Given the description of an element on the screen output the (x, y) to click on. 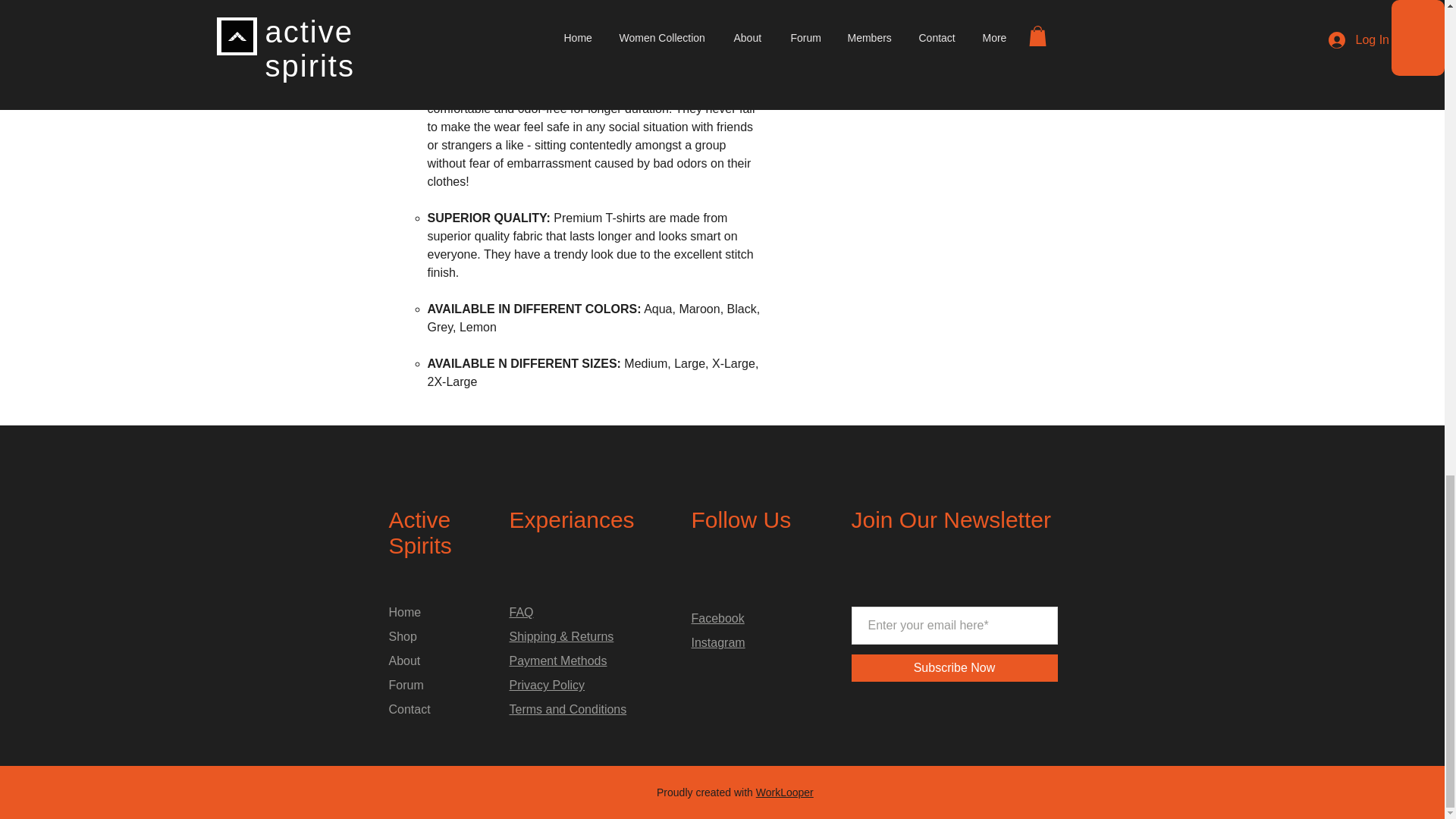
Shop (402, 635)
Forum (405, 684)
Contact (408, 708)
About (404, 660)
FAQ (521, 612)
Privacy Policy (547, 684)
Payment Methods (558, 660)
Terms and Conditions (568, 708)
Home (404, 612)
